Given the description of an element on the screen output the (x, y) to click on. 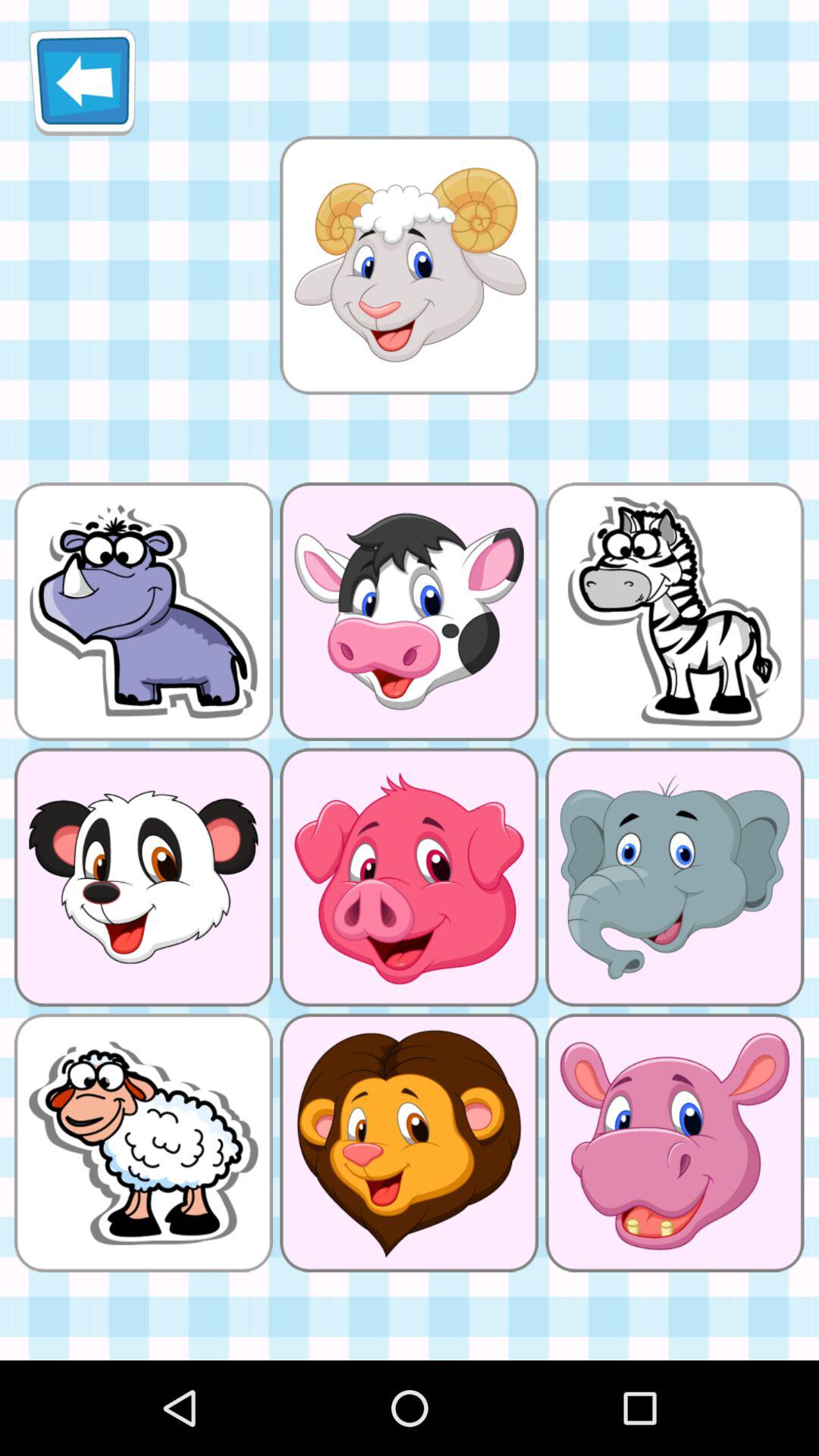
choose icon (409, 264)
